Given the description of an element on the screen output the (x, y) to click on. 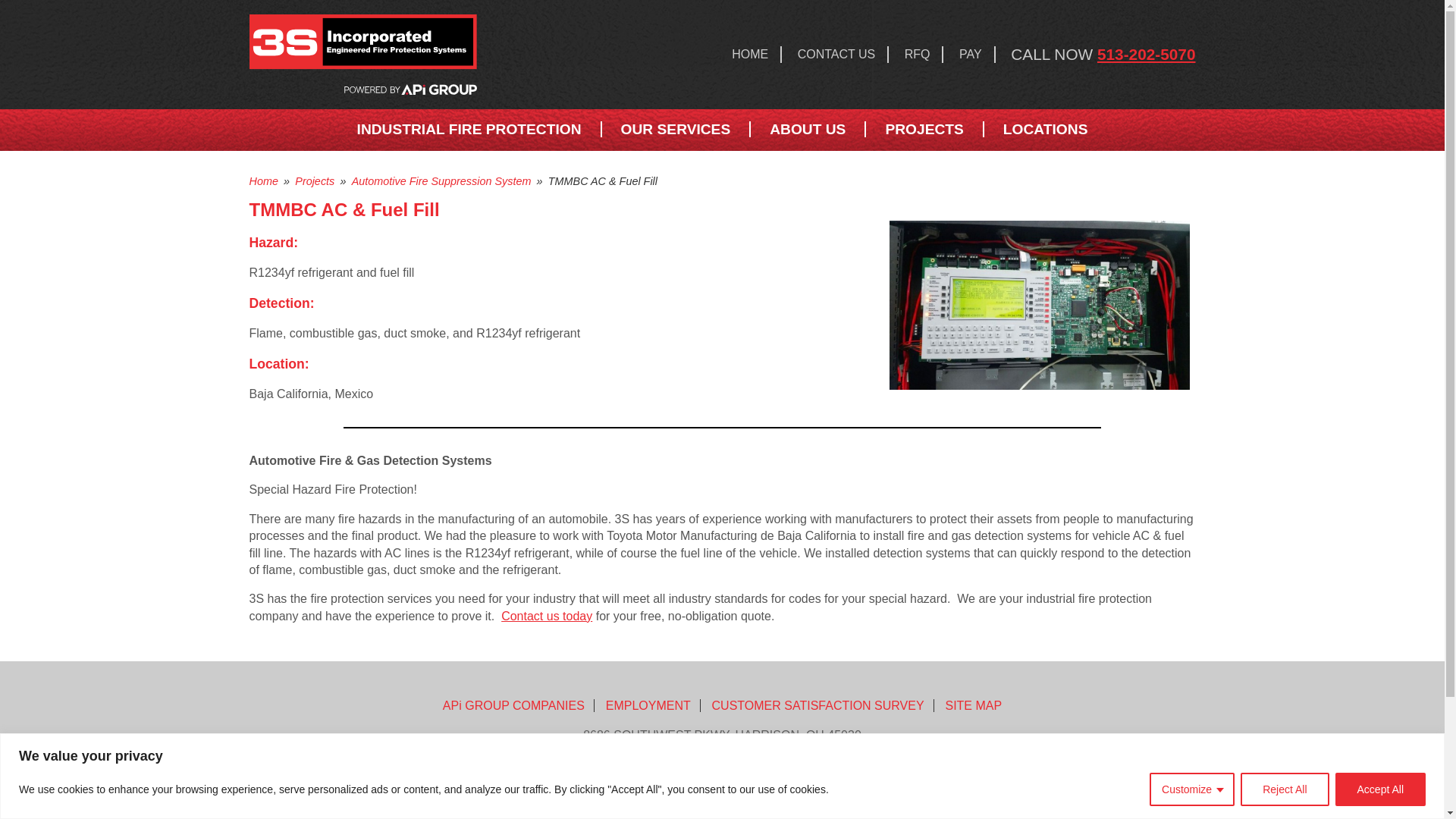
Accept All (1380, 788)
Back to Home (404, 54)
Customize (1192, 788)
Reject All (1283, 788)
